Given the description of an element on the screen output the (x, y) to click on. 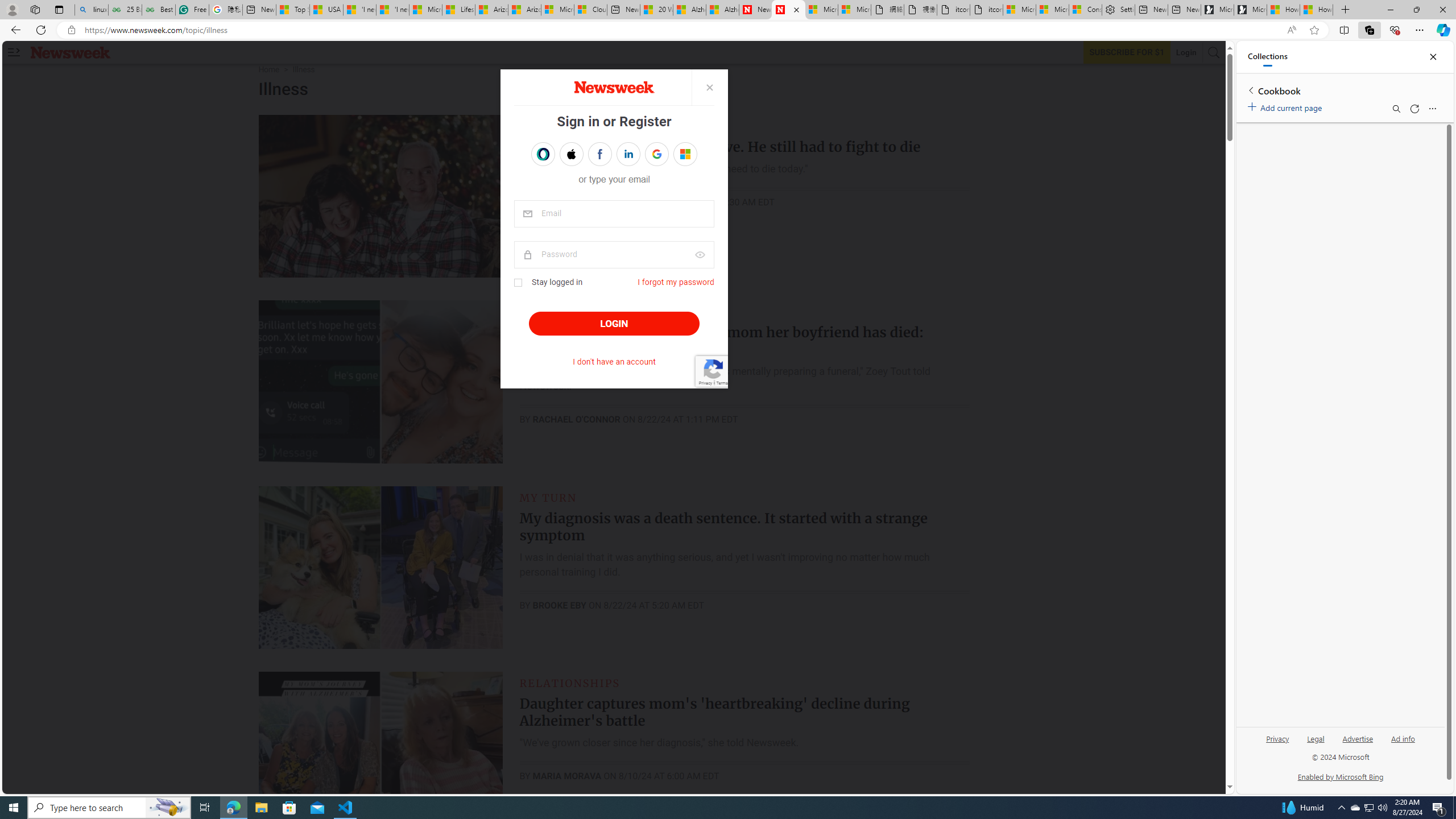
Home (268, 68)
Personal Profile (12, 9)
Microsoft (684, 153)
email (613, 213)
Sign in with APPLE (571, 154)
itconcepthk.com/projector_solutions.mp4 (986, 9)
Sign in with OPENPASS (541, 154)
Consumer Health Data Privacy Policy (1085, 9)
Terms (721, 382)
